Given the description of an element on the screen output the (x, y) to click on. 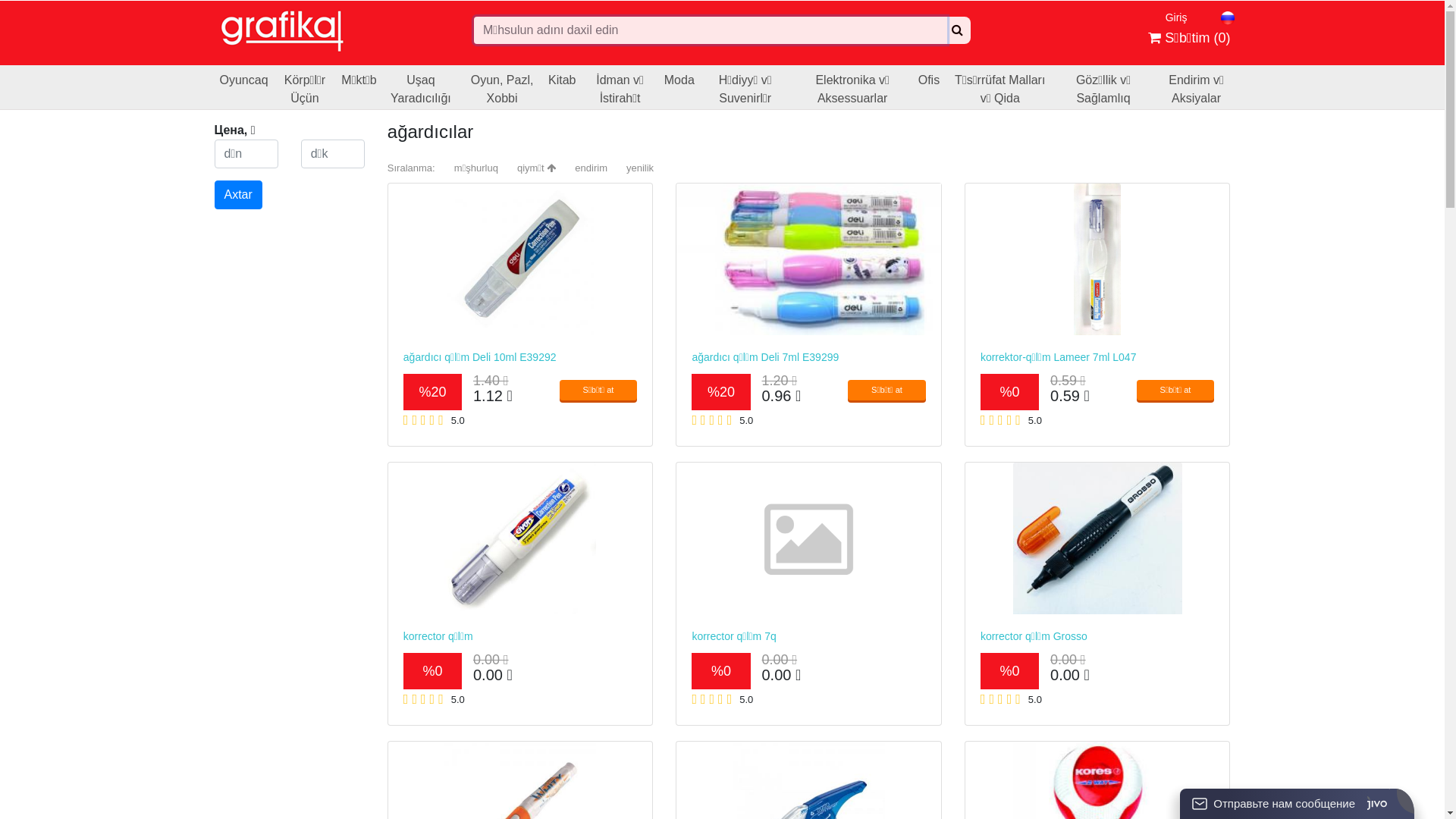
yenilik Element type: text (639, 167)
Moda Element type: text (679, 87)
endirim Element type: text (590, 167)
Oyun, Pazl, Xobbi Element type: text (501, 87)
Axtar Element type: text (237, 194)
Oyuncaq Element type: text (244, 87)
Ofis Element type: text (928, 87)
Kitab Element type: text (561, 87)
